Given the description of an element on the screen output the (x, y) to click on. 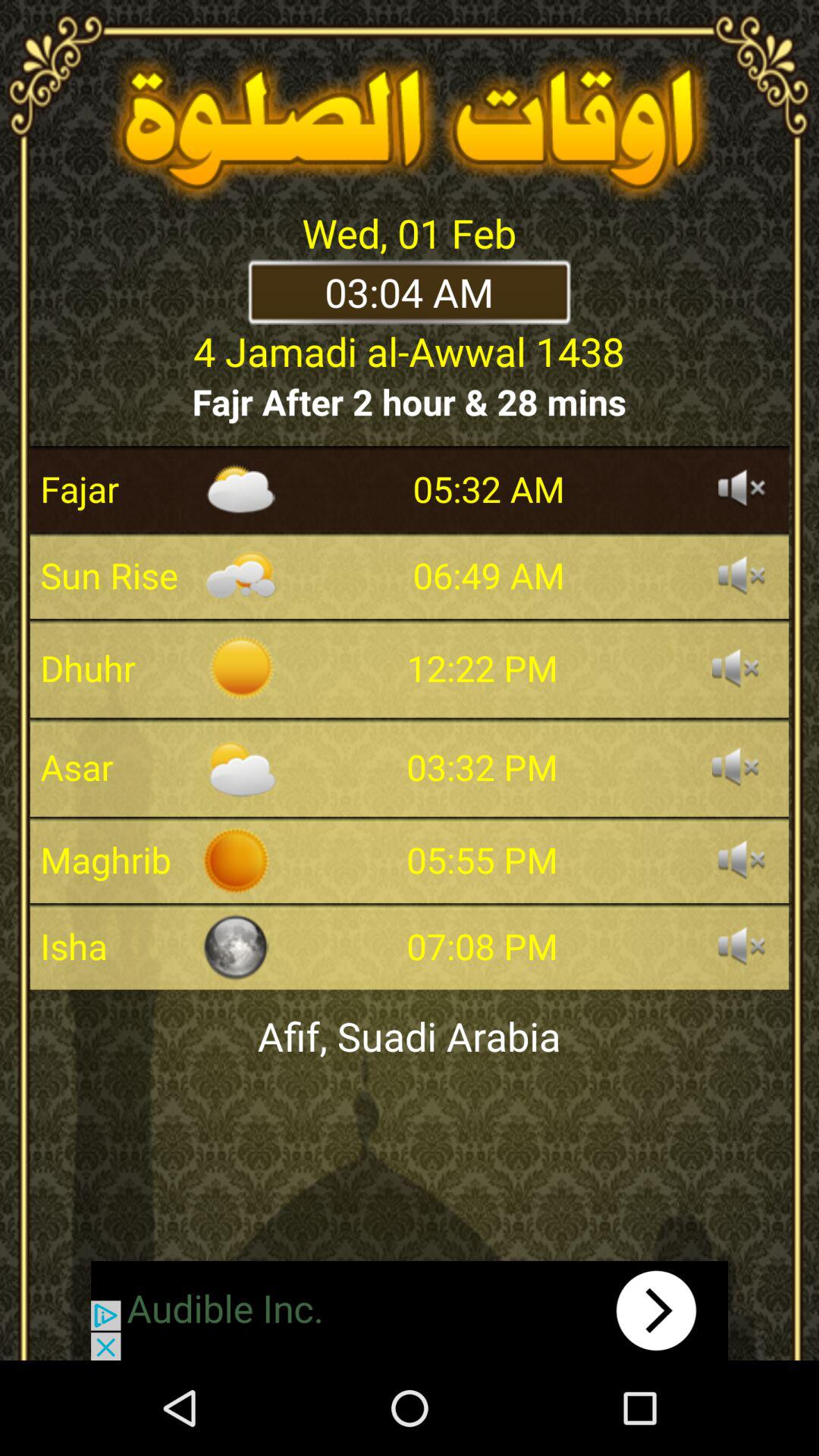
toggle sound on/off (735, 767)
